Given the description of an element on the screen output the (x, y) to click on. 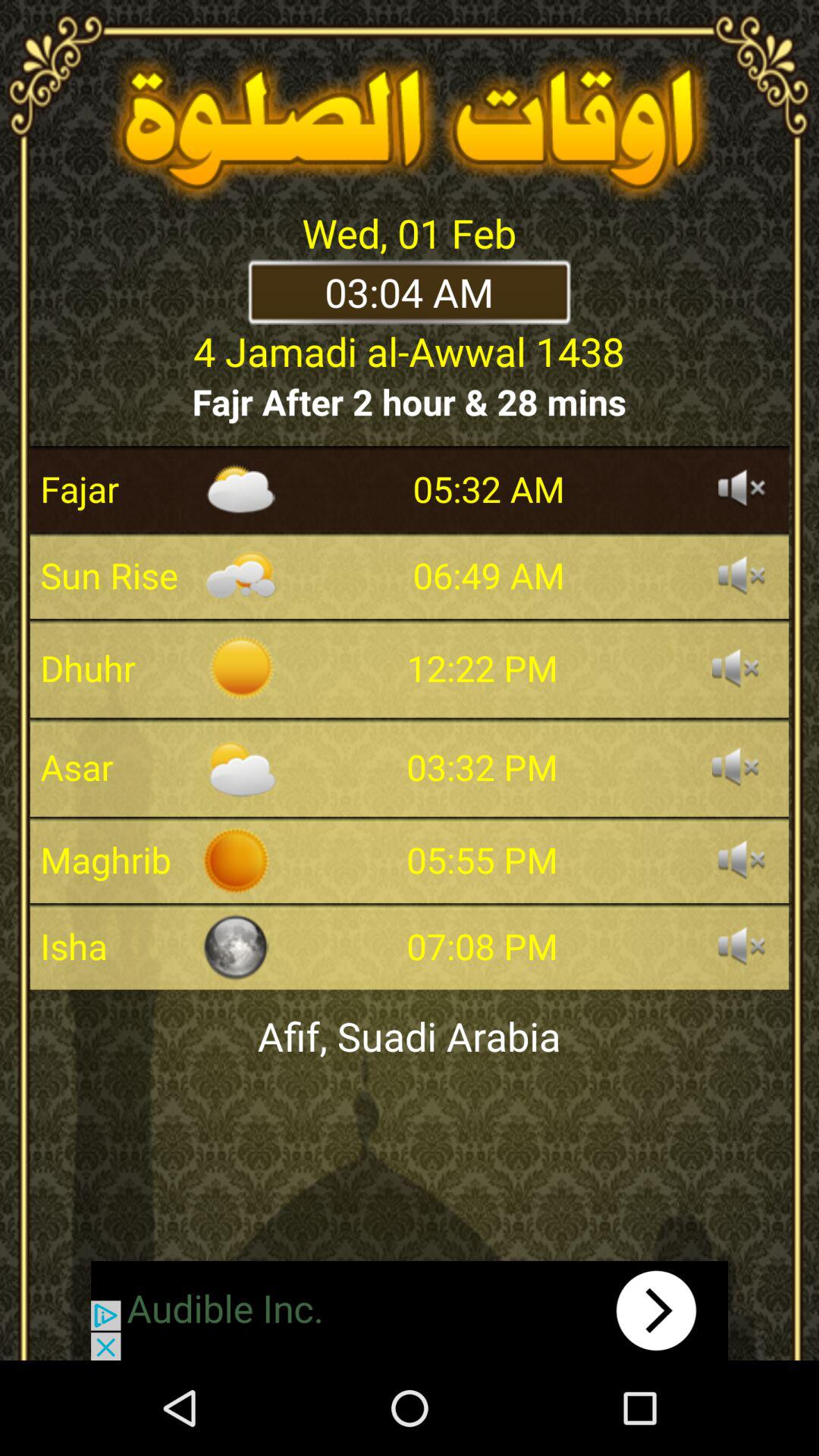
toggle sound on/off (735, 767)
